Given the description of an element on the screen output the (x, y) to click on. 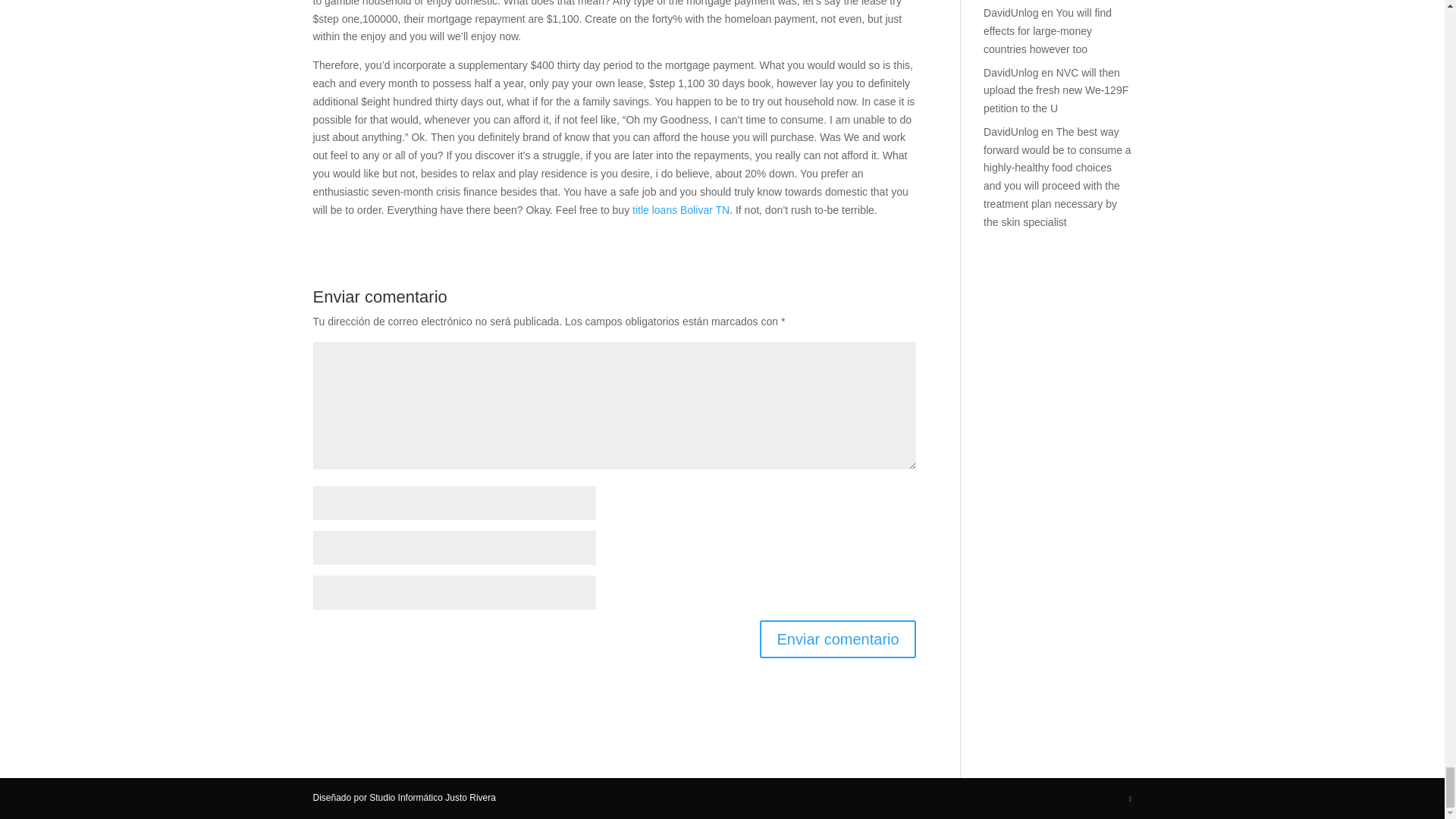
Enviar comentario (837, 638)
